Given the description of an element on the screen output the (x, y) to click on. 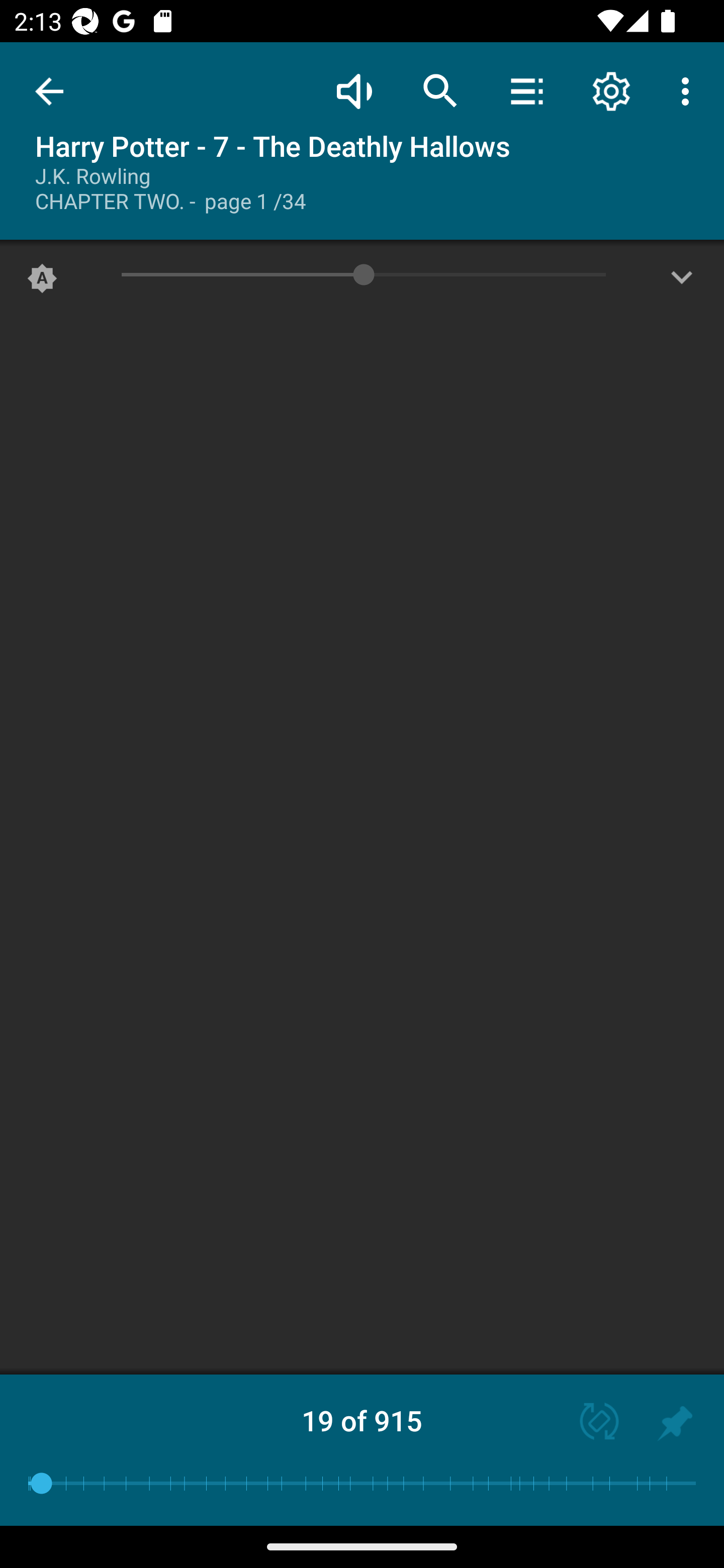
Exit reading (49, 91)
Read aloud (354, 90)
Text search (440, 90)
Contents / Bookmarks / Quotes (526, 90)
Reading settings (611, 90)
More options (688, 90)
Selected screen brightness (42, 281)
Screen brightness settings (681, 281)
19 of 915 (361, 1420)
Screen orientation (590, 1423)
Add to history (674, 1423)
